Given the description of an element on the screen output the (x, y) to click on. 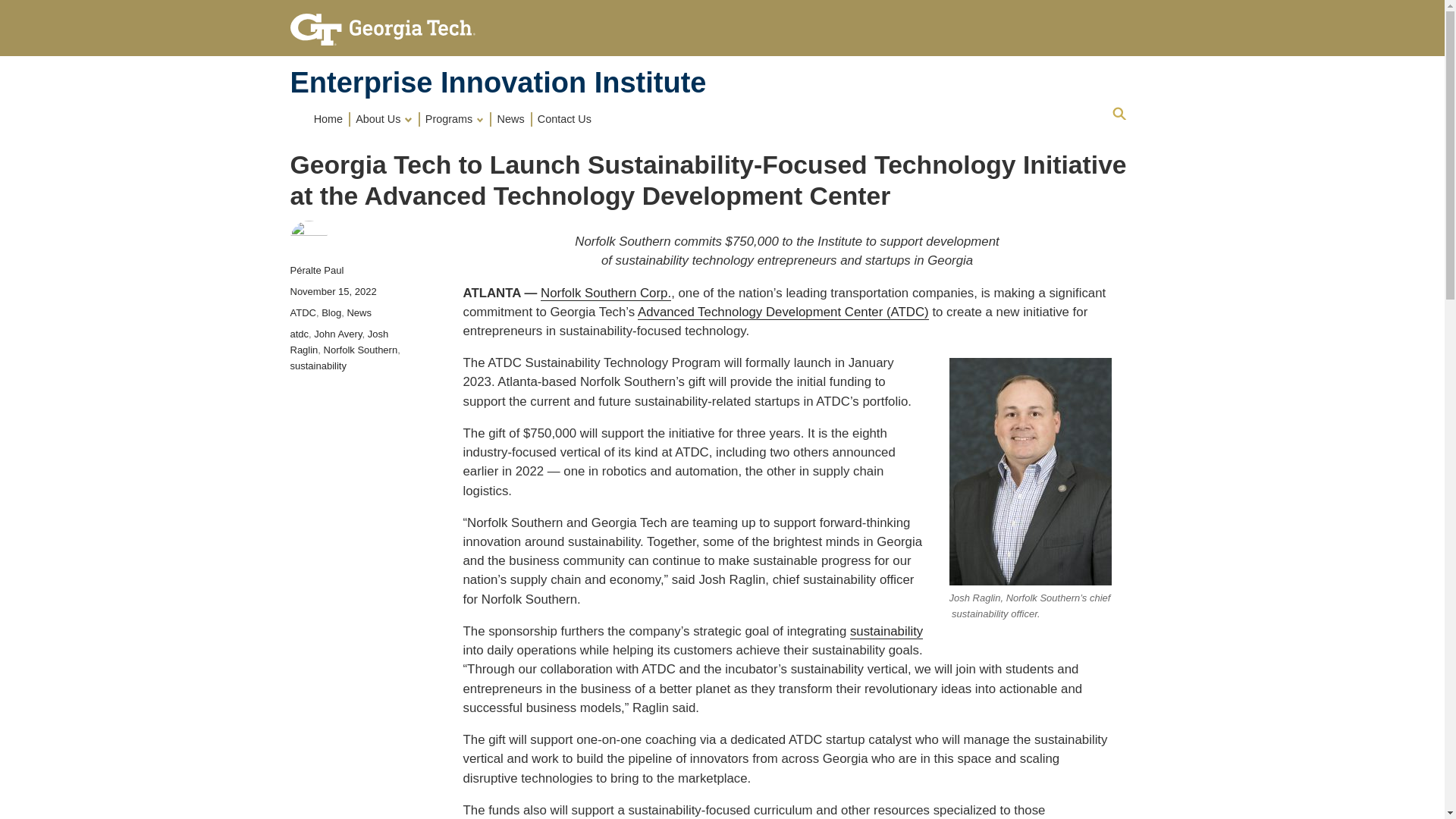
Home (328, 119)
Contact Us (564, 119)
sustainability (886, 631)
Home (497, 82)
Programs (456, 119)
News (511, 119)
About Us (385, 119)
Norfolk Southern Corp. (605, 292)
Enterprise Innovation Institute (497, 82)
